Given the description of an element on the screen output the (x, y) to click on. 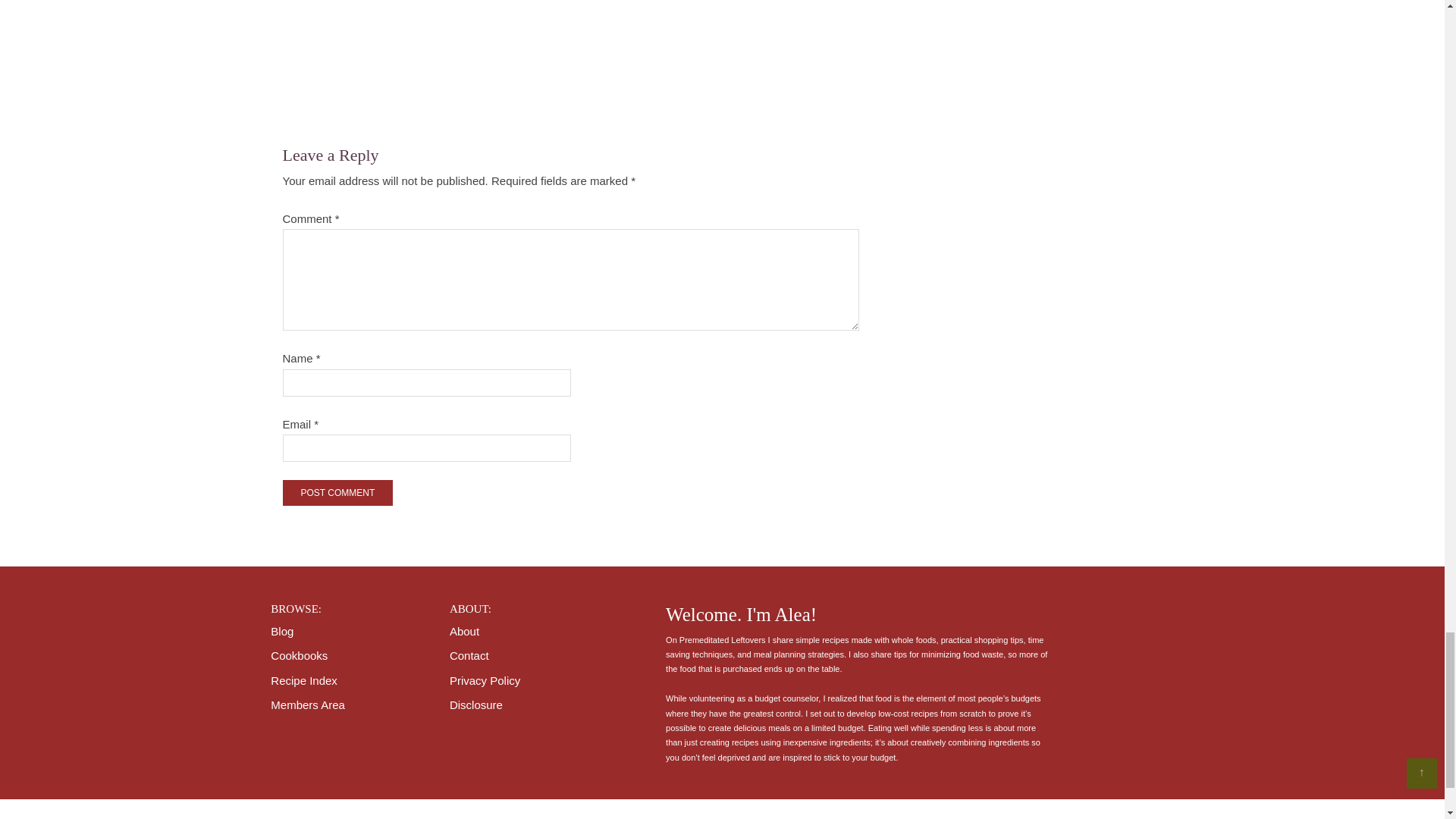
Post Comment (337, 492)
